Given the description of an element on the screen output the (x, y) to click on. 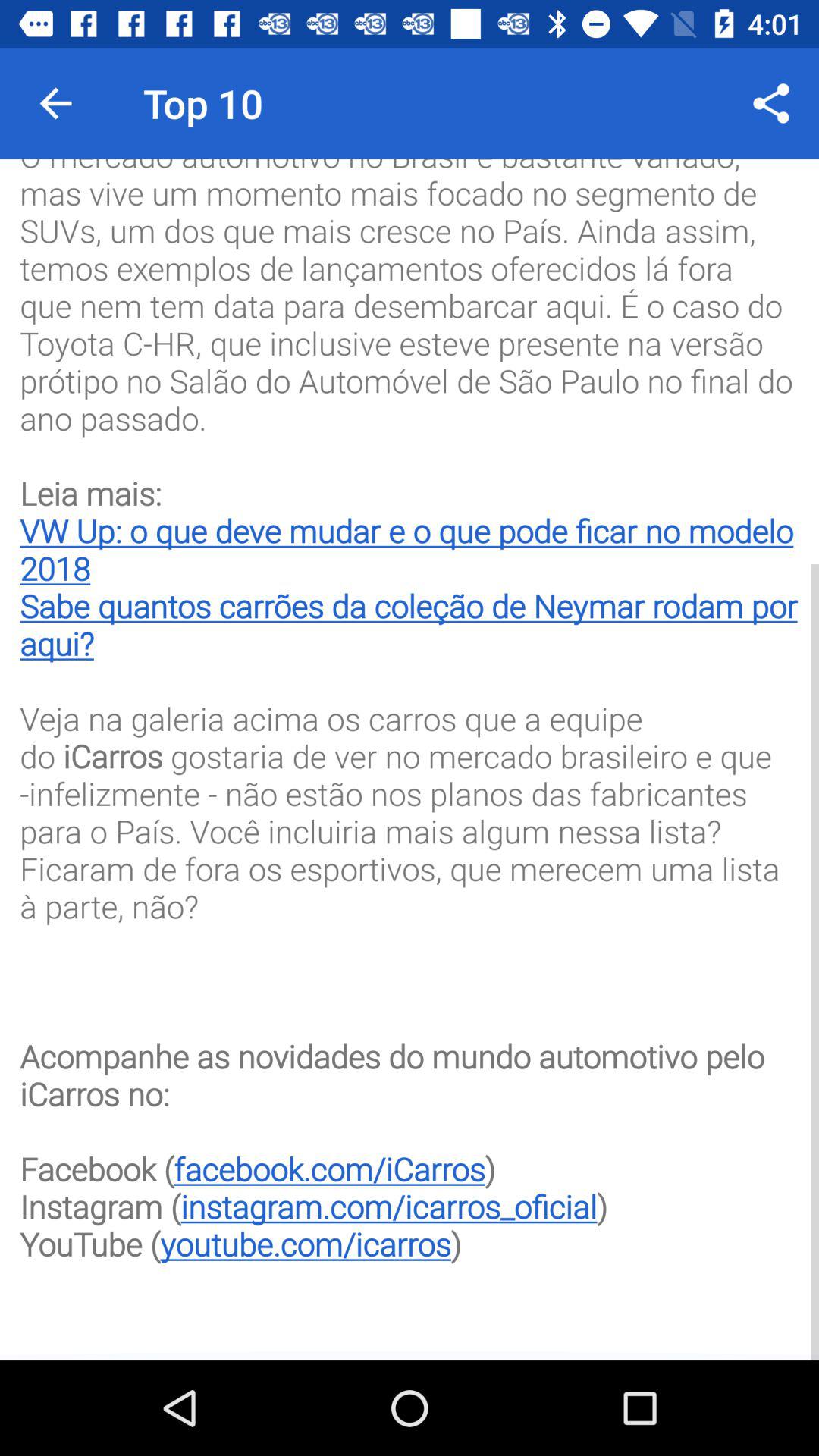
jump to the o mercado automotivo (409, 749)
